Given the description of an element on the screen output the (x, y) to click on. 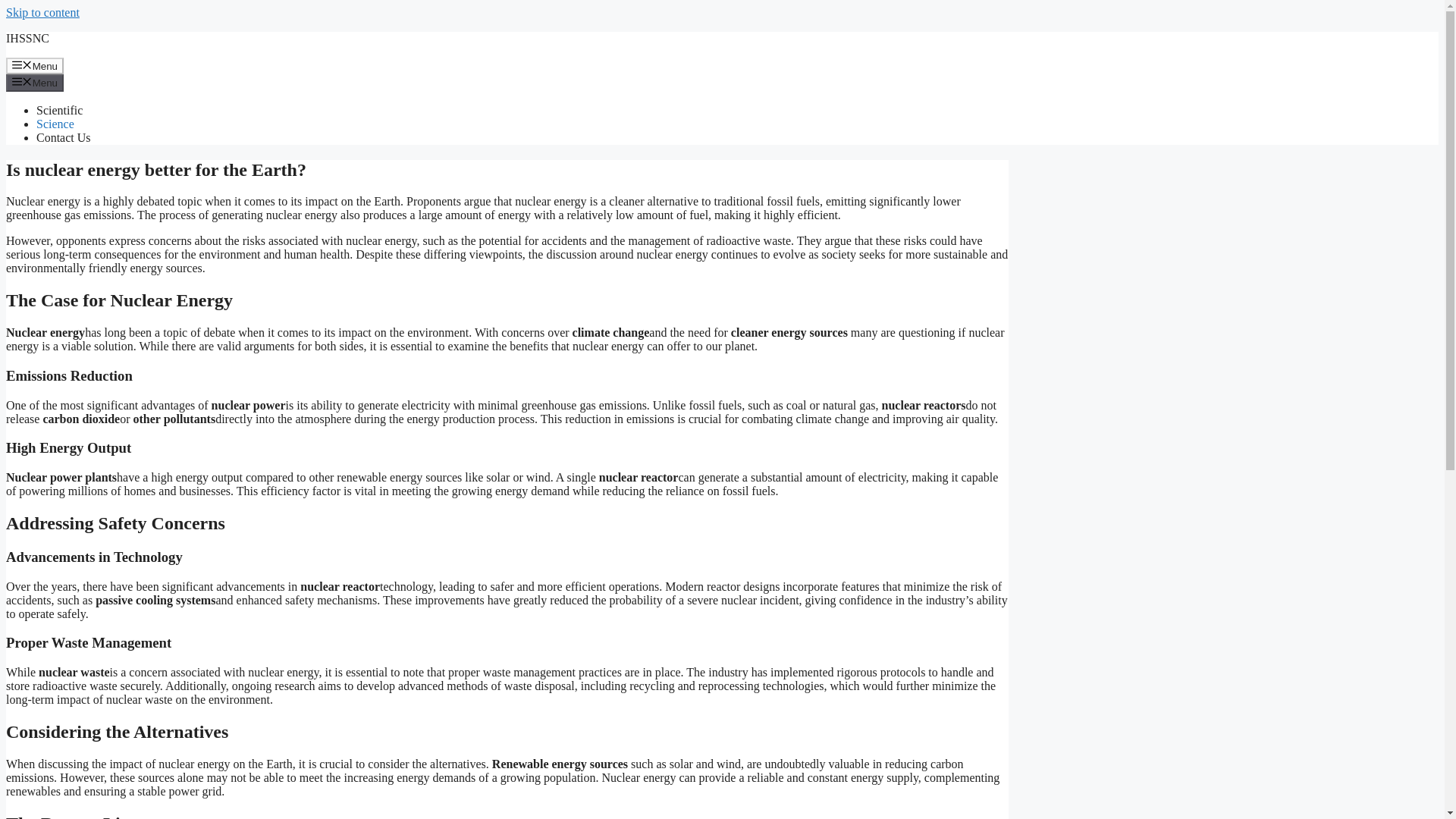
Contact Us (63, 137)
Menu (34, 65)
Scientific (59, 110)
Science (55, 123)
Menu (34, 82)
Skip to content (42, 11)
IHSSNC (27, 38)
Skip to content (42, 11)
